Given the description of an element on the screen output the (x, y) to click on. 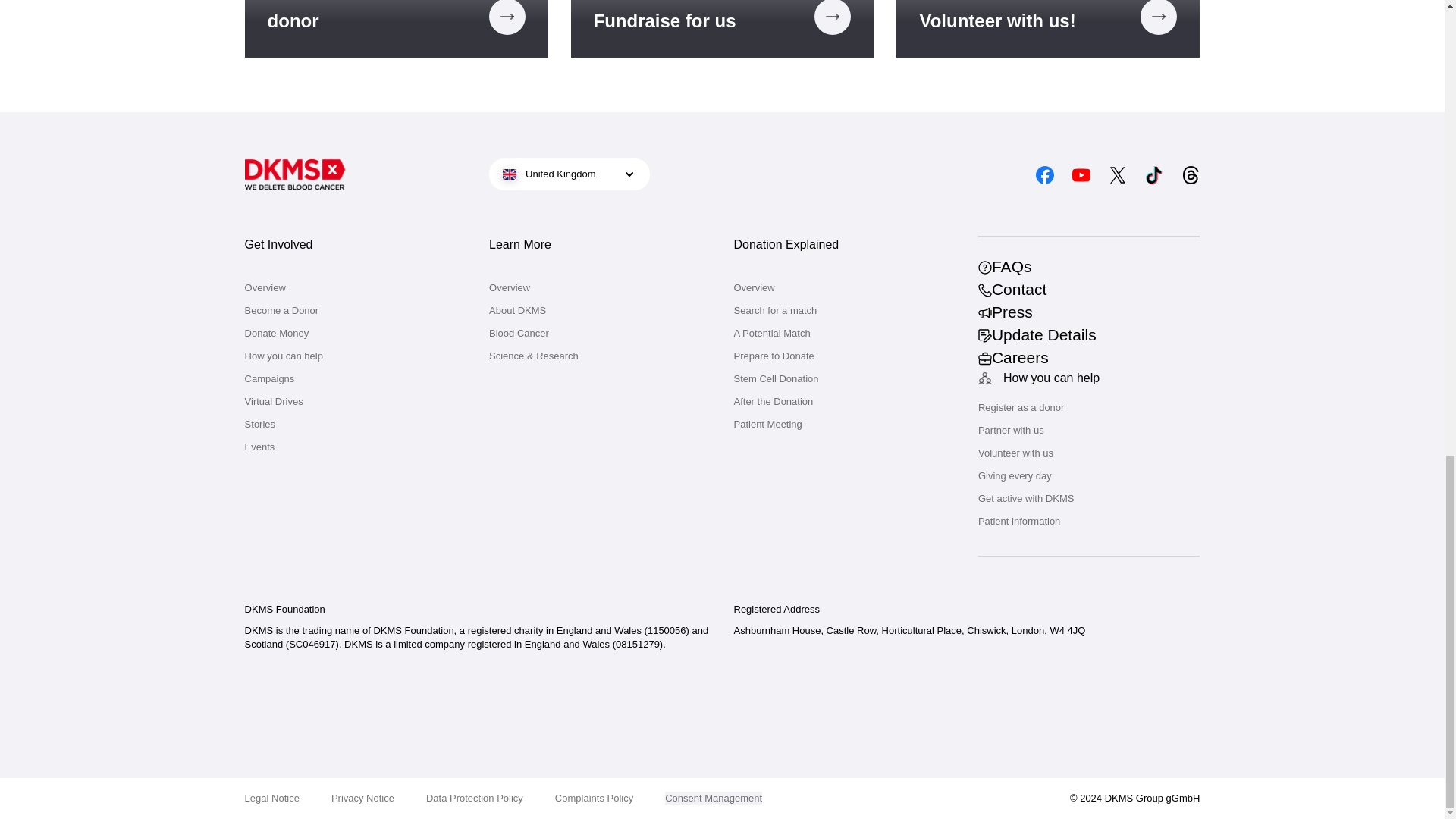
Virtual Drives (354, 401)
Facebook (1044, 173)
About DKMS (599, 310)
Events (354, 447)
Become a Donor (396, 28)
Donate Money (354, 333)
Become a stem cell donor (396, 28)
Volunteer with us! (1047, 28)
How you can help (354, 356)
Instagram (1007, 173)
